Given the description of an element on the screen output the (x, y) to click on. 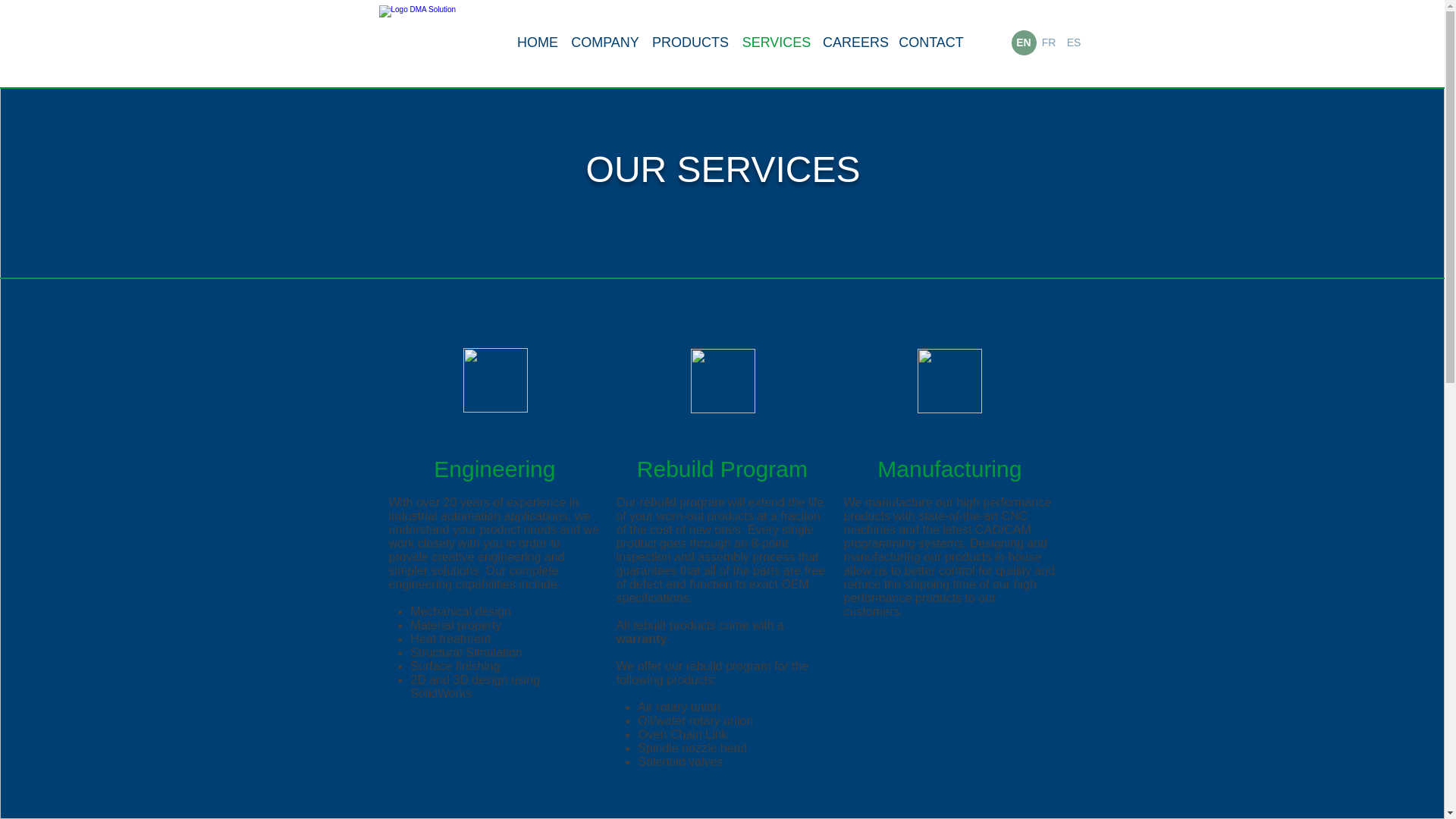
EN (1023, 42)
FR (1048, 42)
PRODUCTS (690, 42)
Logo DMA Solution (439, 42)
HOME (536, 42)
COMPANY (605, 42)
ES (1073, 42)
CONTACT (931, 42)
CAREERS (855, 42)
SERVICES (775, 42)
